Given the description of an element on the screen output the (x, y) to click on. 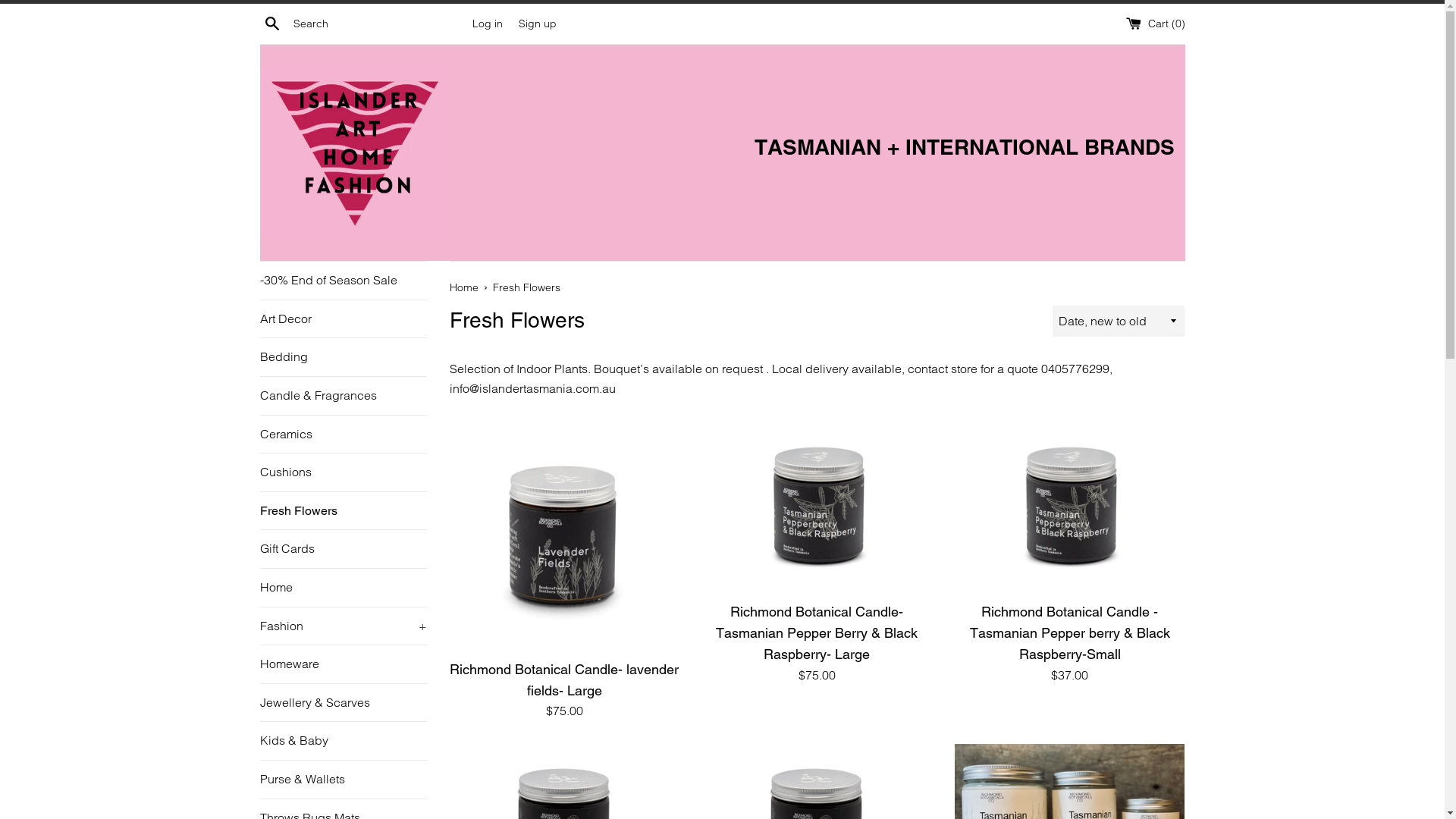
Homeware Element type: text (342, 664)
Home Element type: text (464, 287)
Richmond Botanical Candle- lavender fields- Large Element type: hover (563, 536)
Cushions Element type: text (342, 472)
Log in Element type: text (486, 23)
Jewellery & Scarves Element type: text (342, 702)
Home Element type: text (342, 587)
Ceramics Element type: text (342, 434)
Fashion
+ Element type: text (342, 626)
Sign up Element type: text (537, 23)
Richmond Botanical Candle- lavender fields- Large Element type: text (563, 679)
Gift Cards Element type: text (342, 548)
Art Decor Element type: text (342, 319)
Candle & Fragrances Element type: text (342, 395)
-30% End of Season Sale Element type: text (342, 280)
Search Element type: text (271, 22)
Fresh Flowers Element type: text (342, 511)
Cart (0) Element type: text (1154, 23)
Bedding Element type: text (342, 357)
Purse & Wallets Element type: text (342, 779)
Kids & Baby Element type: text (342, 740)
